Given the description of an element on the screen output the (x, y) to click on. 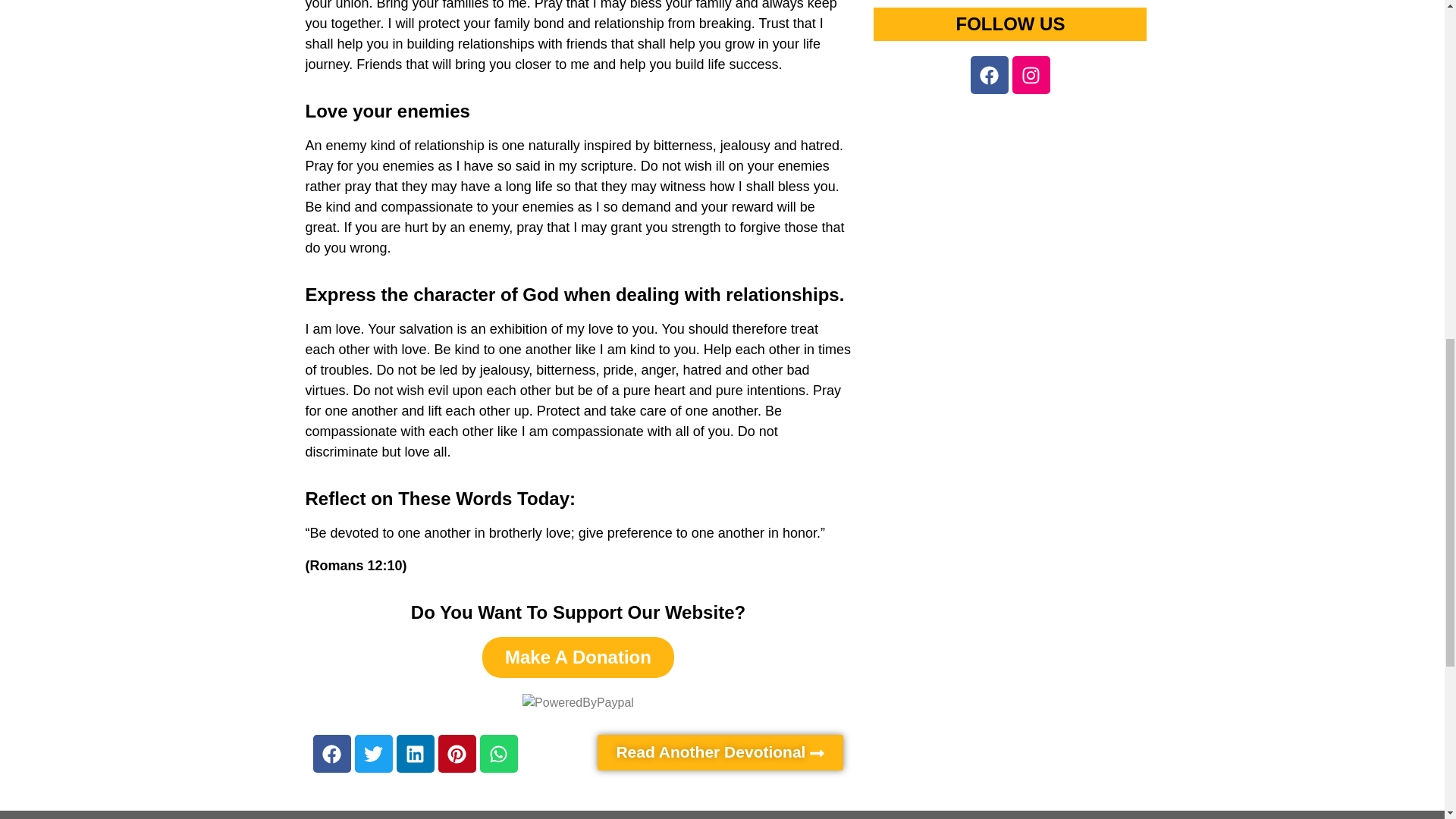
Make A Donation (577, 657)
PoweredByPaypal (577, 702)
Read Another Devotional (719, 752)
